Given the description of an element on the screen output the (x, y) to click on. 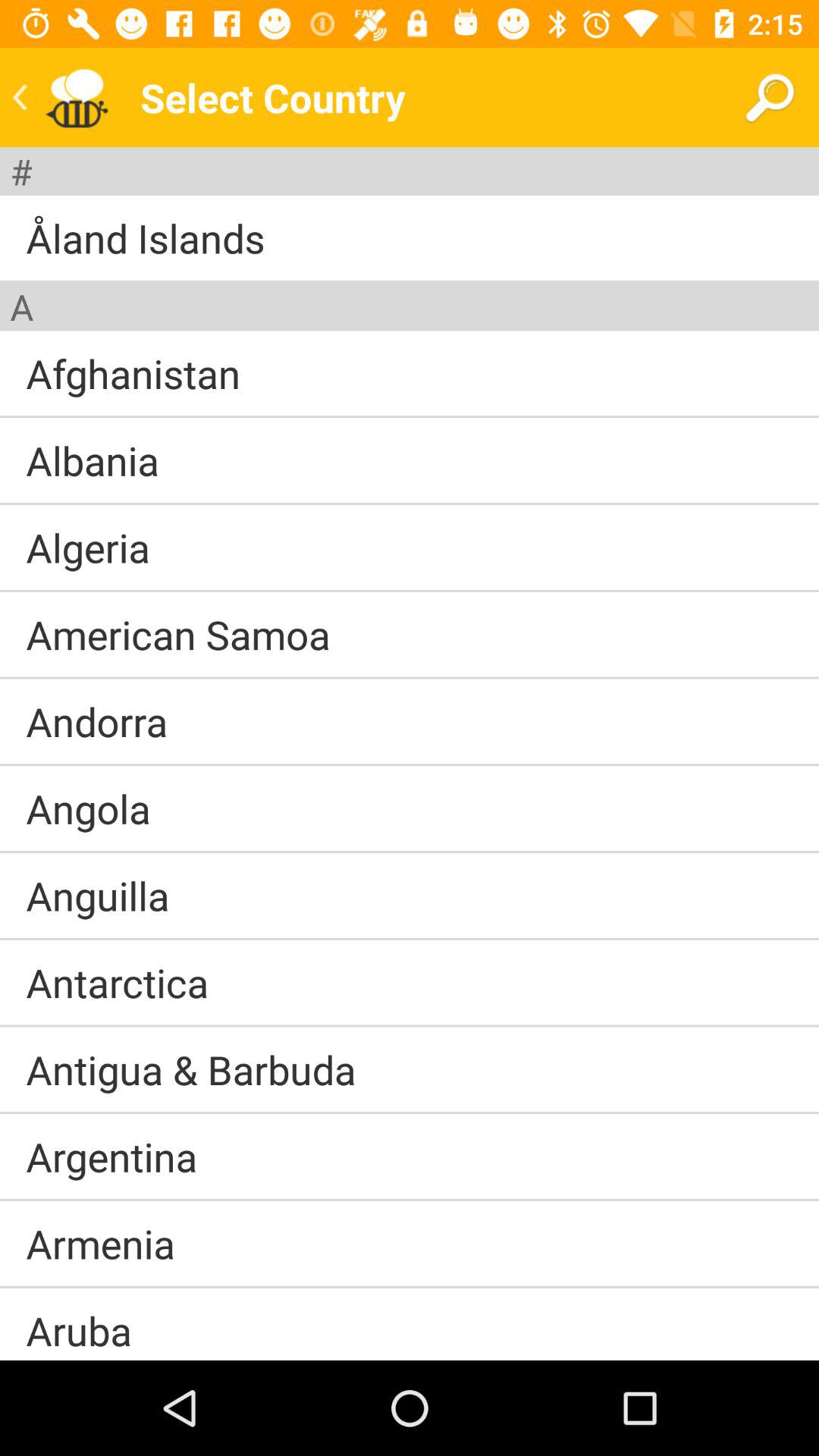
click icon to the right of select country icon (769, 97)
